Given the description of an element on the screen output the (x, y) to click on. 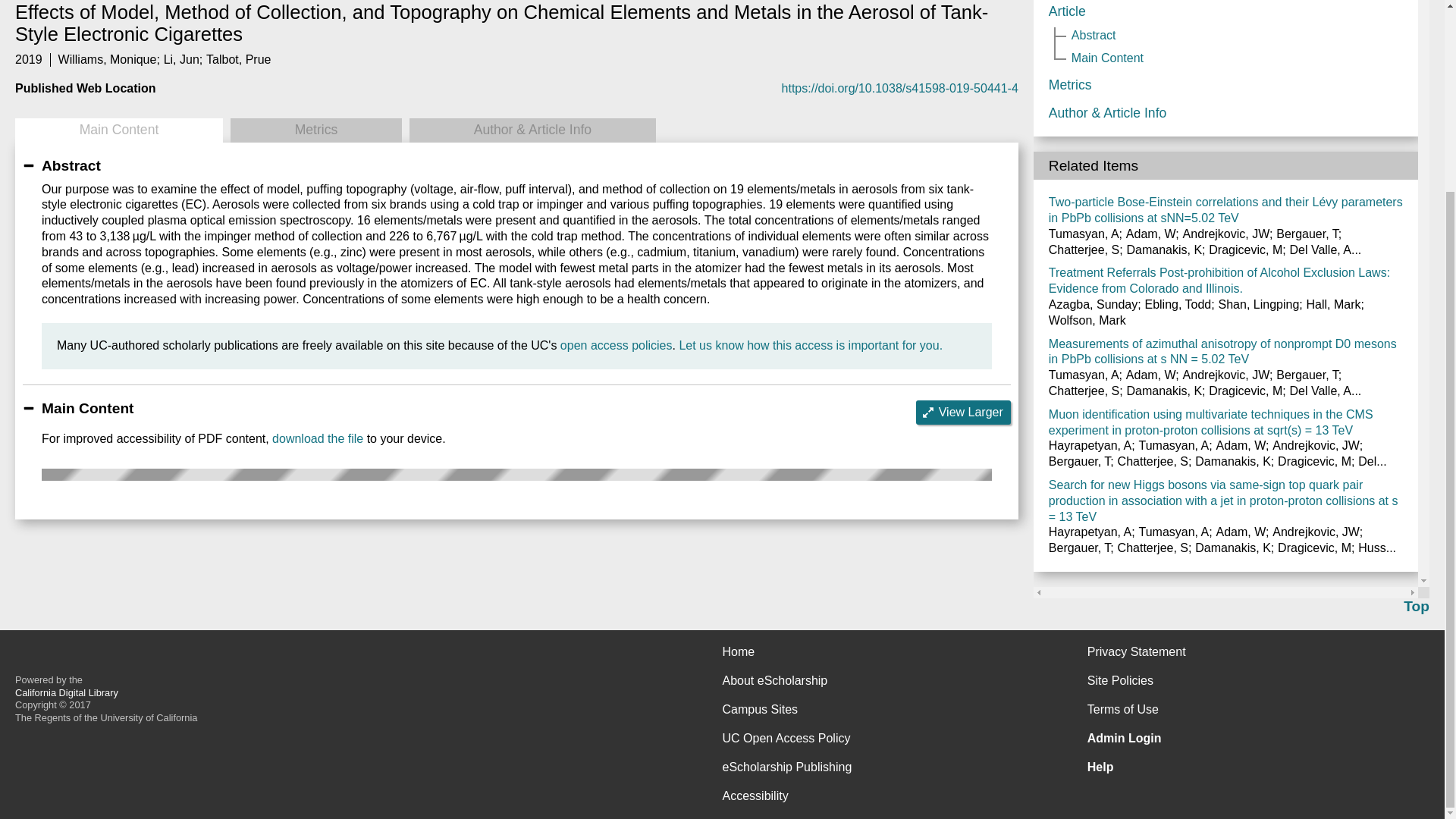
Metrics (315, 129)
View Larger (962, 412)
Williams, Monique (107, 59)
Talbot, Prue (238, 59)
Main Content (118, 129)
open access policies (616, 345)
download the file (317, 438)
Let us know how this access is important for you. (810, 345)
Li, Jun (181, 59)
